Given the description of an element on the screen output the (x, y) to click on. 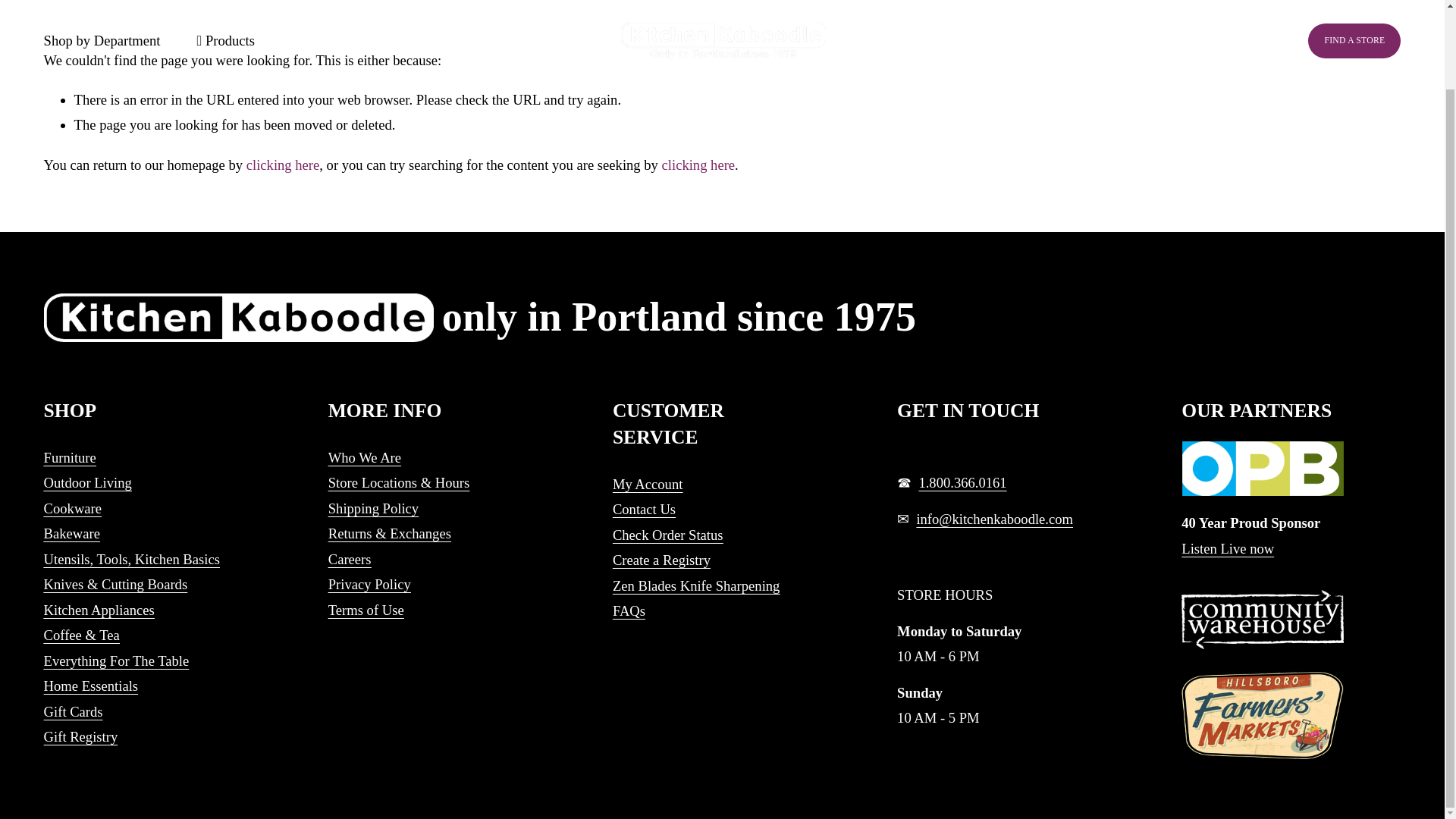
Bakeware (71, 533)
Kitchen Appliances (98, 609)
Outdoor Living (87, 482)
Furniture (69, 457)
Careers (354, 559)
Home Essentials (90, 685)
Utensils, Tools, Kitchen Basics (131, 559)
Who We Are (365, 457)
Check Order (667, 534)
Everything For The Table (116, 660)
clicking here (283, 164)
Furniture (69, 457)
clicking here (698, 164)
My Account (647, 483)
Create a Registry (661, 559)
